Given the description of an element on the screen output the (x, y) to click on. 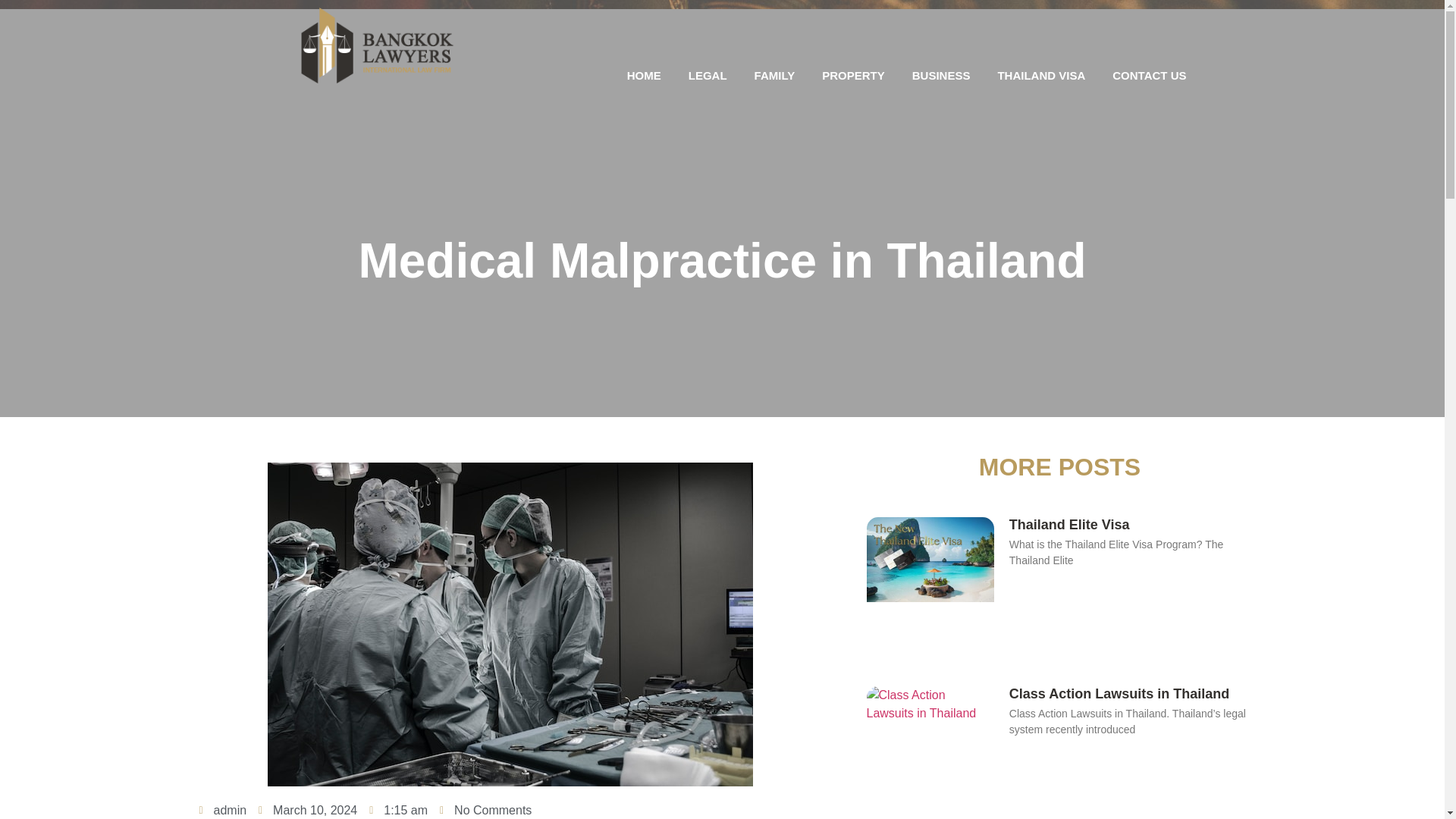
PROPERTY (853, 75)
FAMILY (775, 75)
BUSINESS (941, 75)
THAILAND VISA (1041, 75)
CONTACT US (1149, 75)
HOME (643, 75)
LEGAL (708, 75)
